Given the description of an element on the screen output the (x, y) to click on. 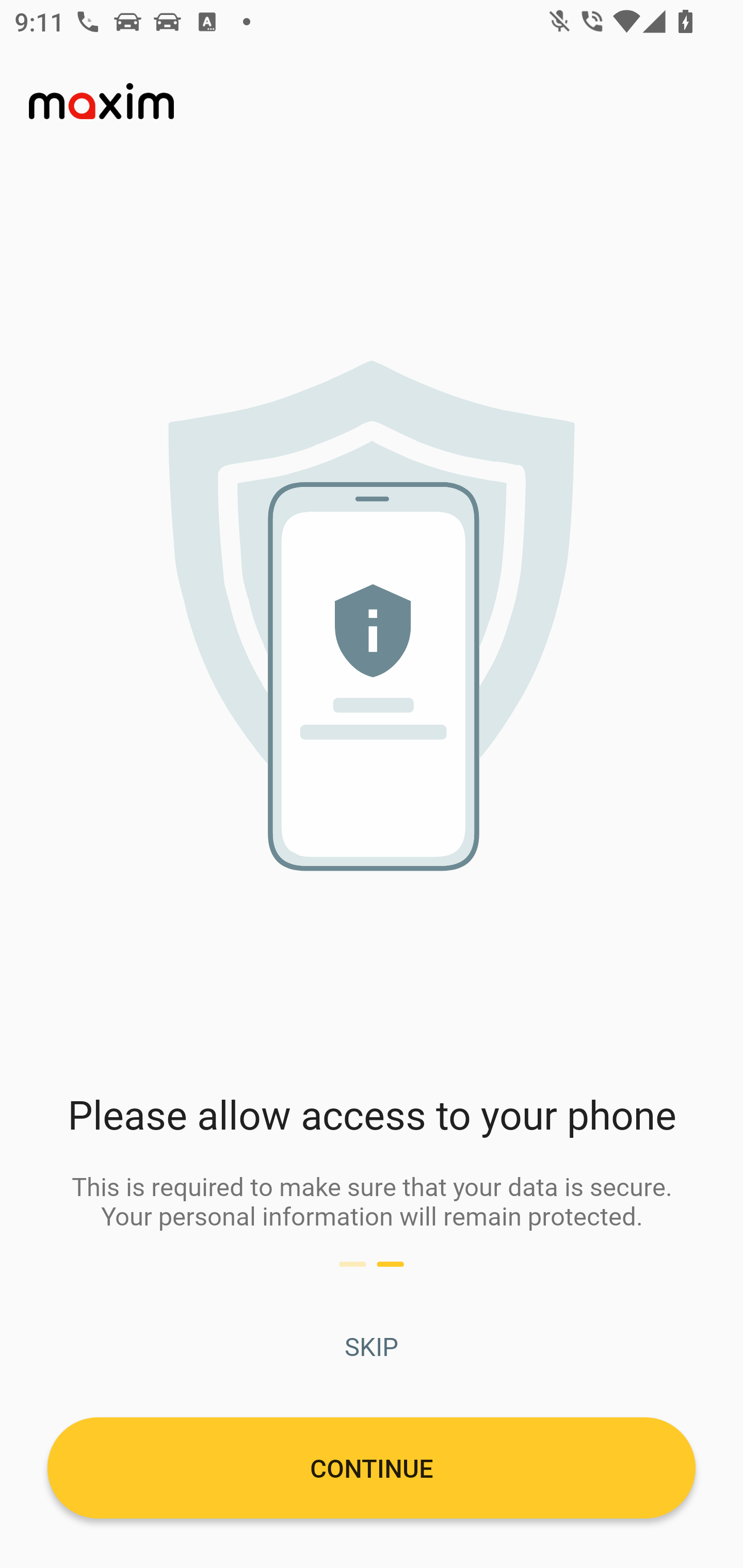
SKIP (371, 1346)
CONTINUE (371, 1467)
